Given the description of an element on the screen output the (x, y) to click on. 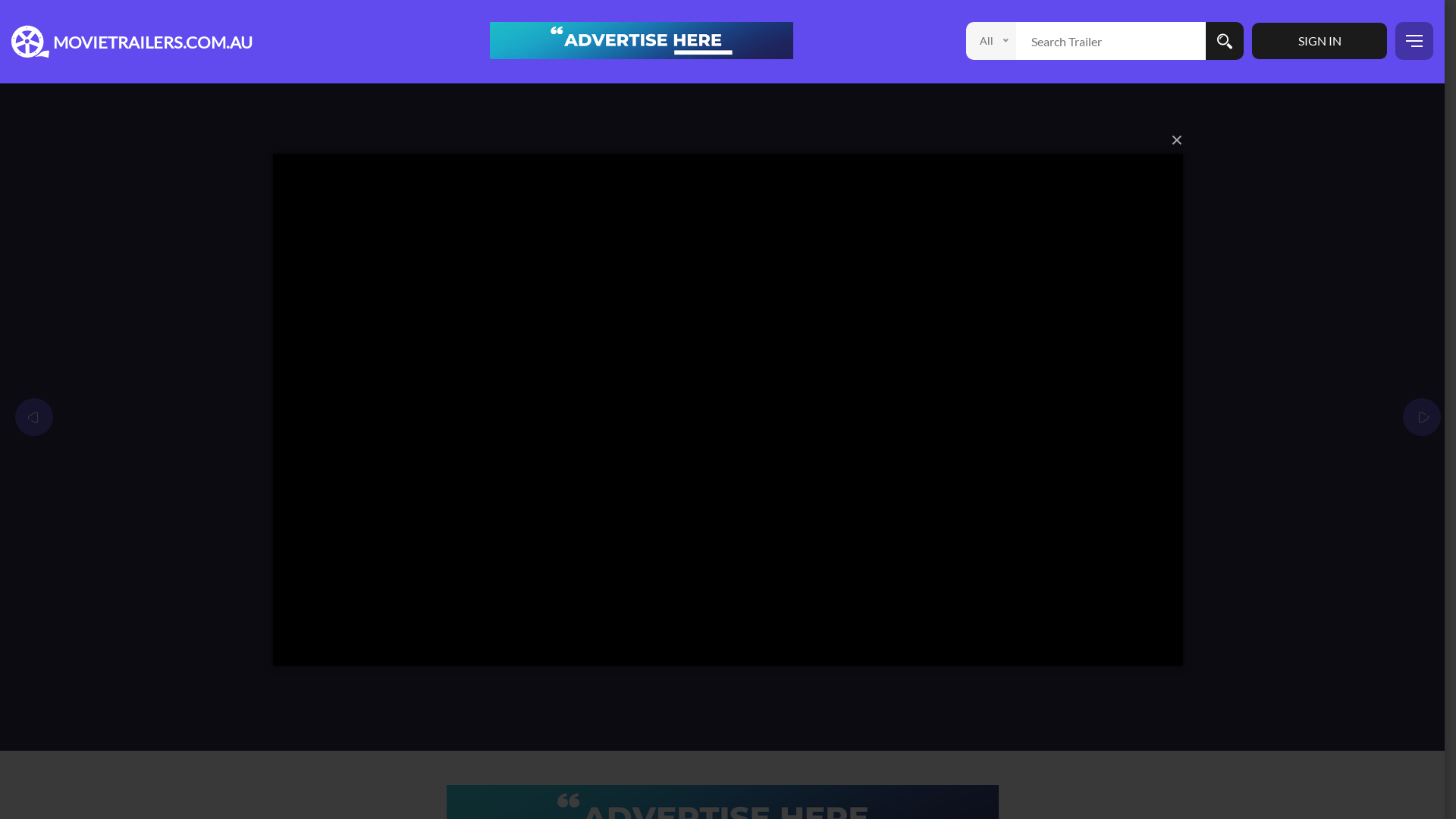
title Element type: hover (641, 38)
MOVIETRAILERS.COM.AU Element type: text (148, 32)
